Given the description of an element on the screen output the (x, y) to click on. 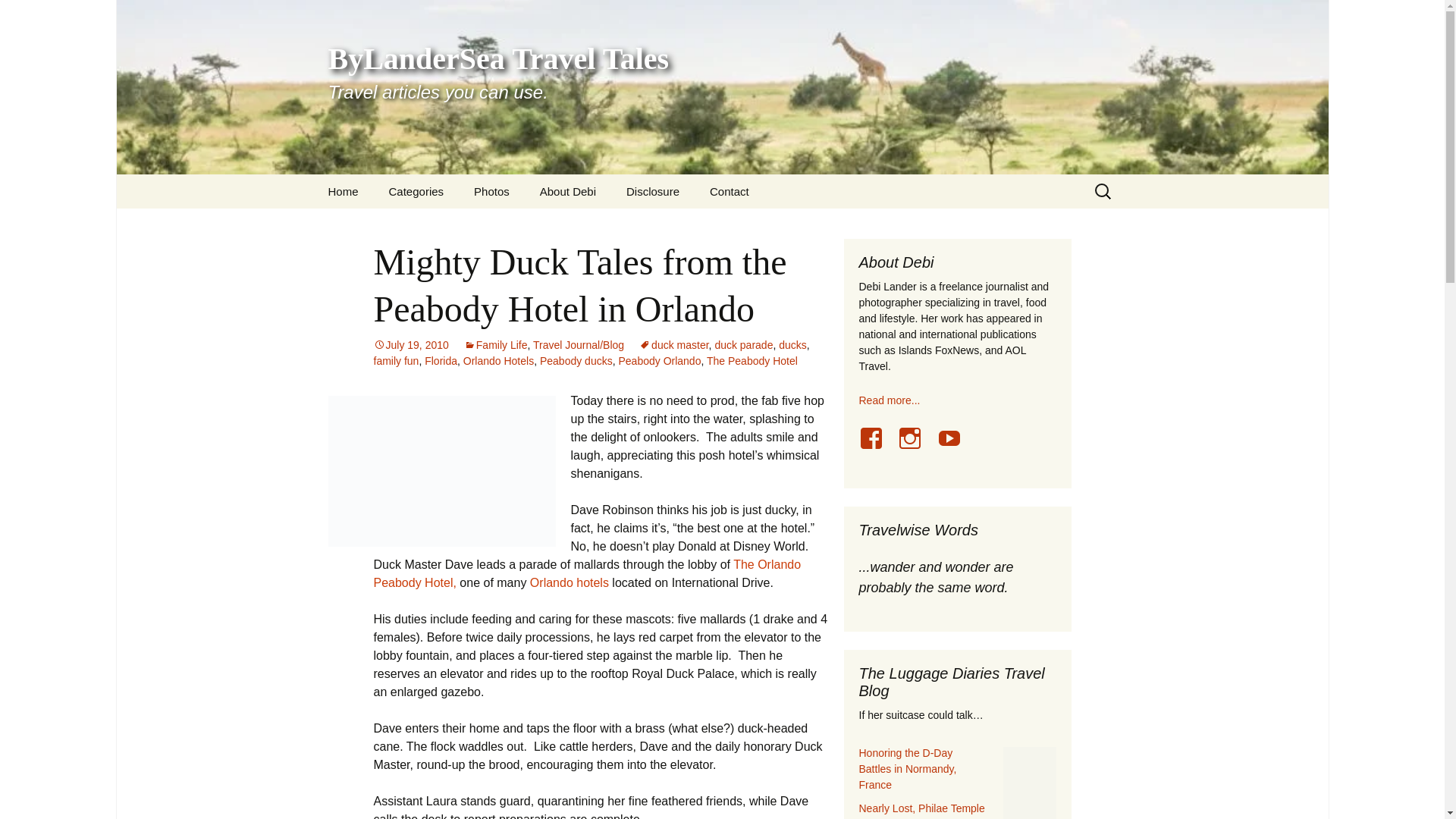
Peabody ducks (576, 360)
Photos (491, 191)
duck master (673, 345)
About Debi (567, 191)
Search (729, 191)
Adventures (18, 15)
The Peabody Hotel (449, 225)
Categories (751, 360)
